Given the description of an element on the screen output the (x, y) to click on. 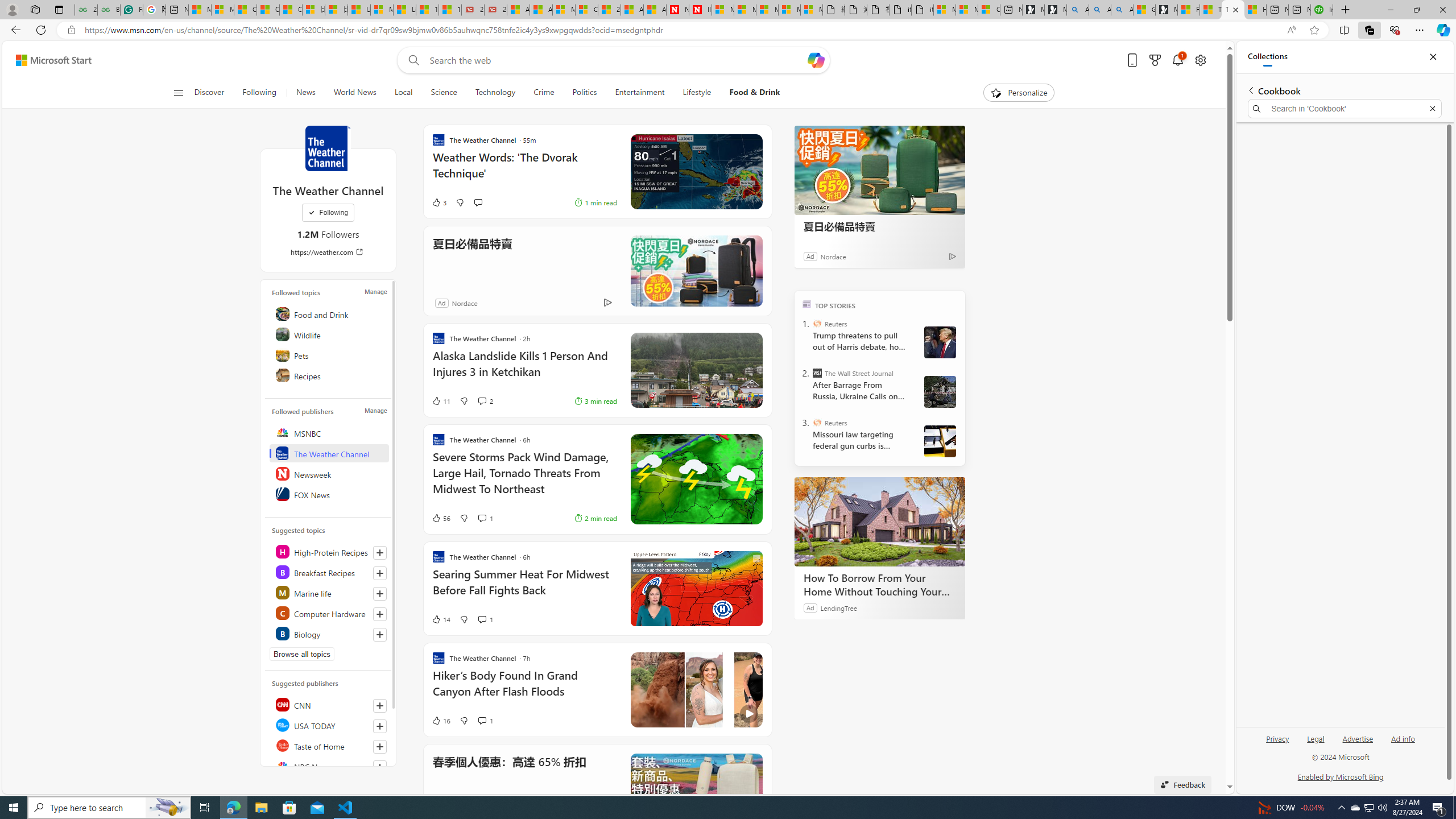
Browse all topics (301, 653)
USA TODAY - MSN (359, 9)
Free AI Writing Assistance for Students | Grammarly (131, 9)
MSNBC (328, 432)
Illness news & latest pictures from Newsweek.com (700, 9)
Recipes (328, 375)
16 Like (440, 720)
